Given the description of an element on the screen output the (x, y) to click on. 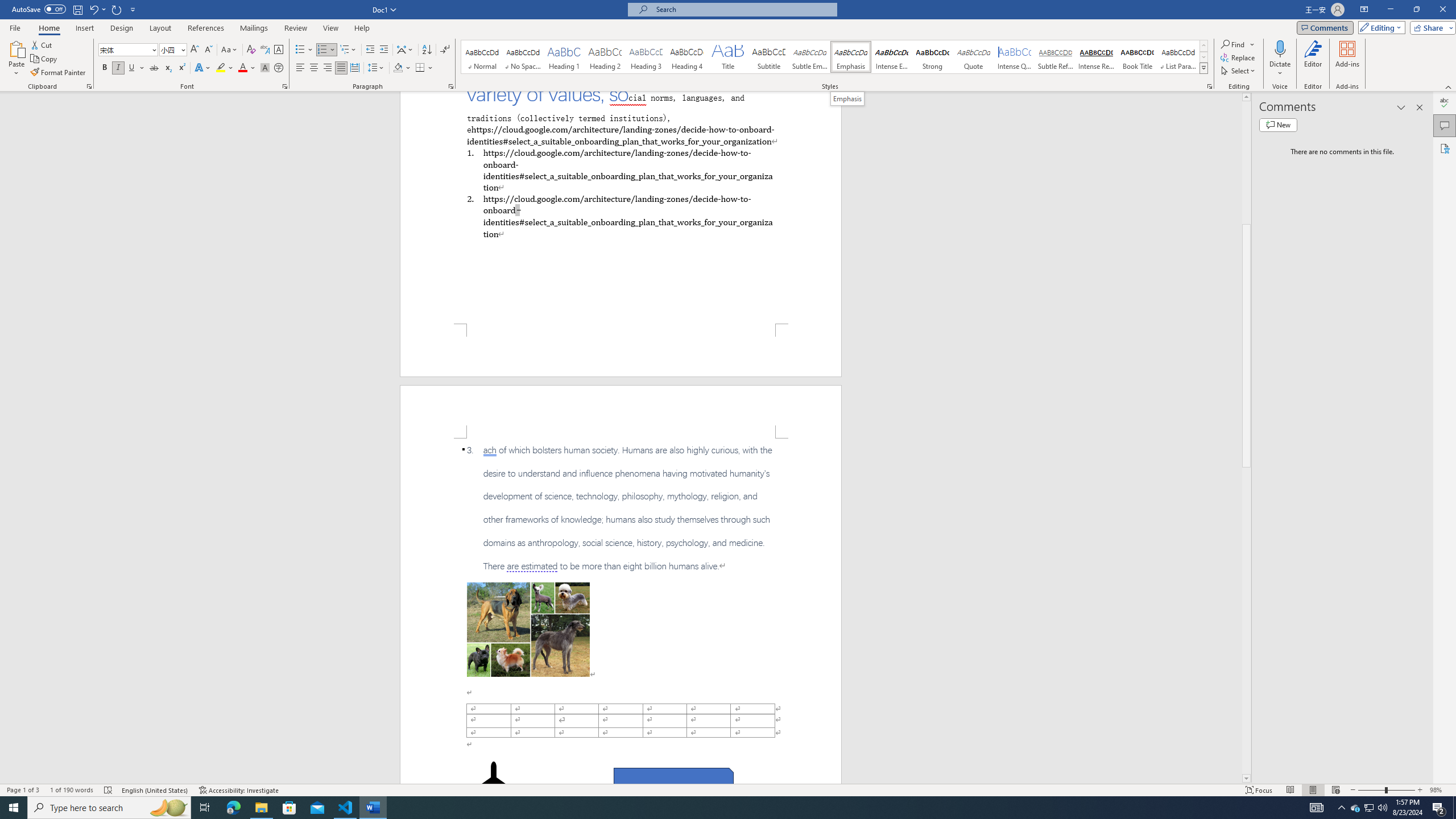
Heading 1 (564, 56)
Page 2 content (620, 610)
